Given the description of an element on the screen output the (x, y) to click on. 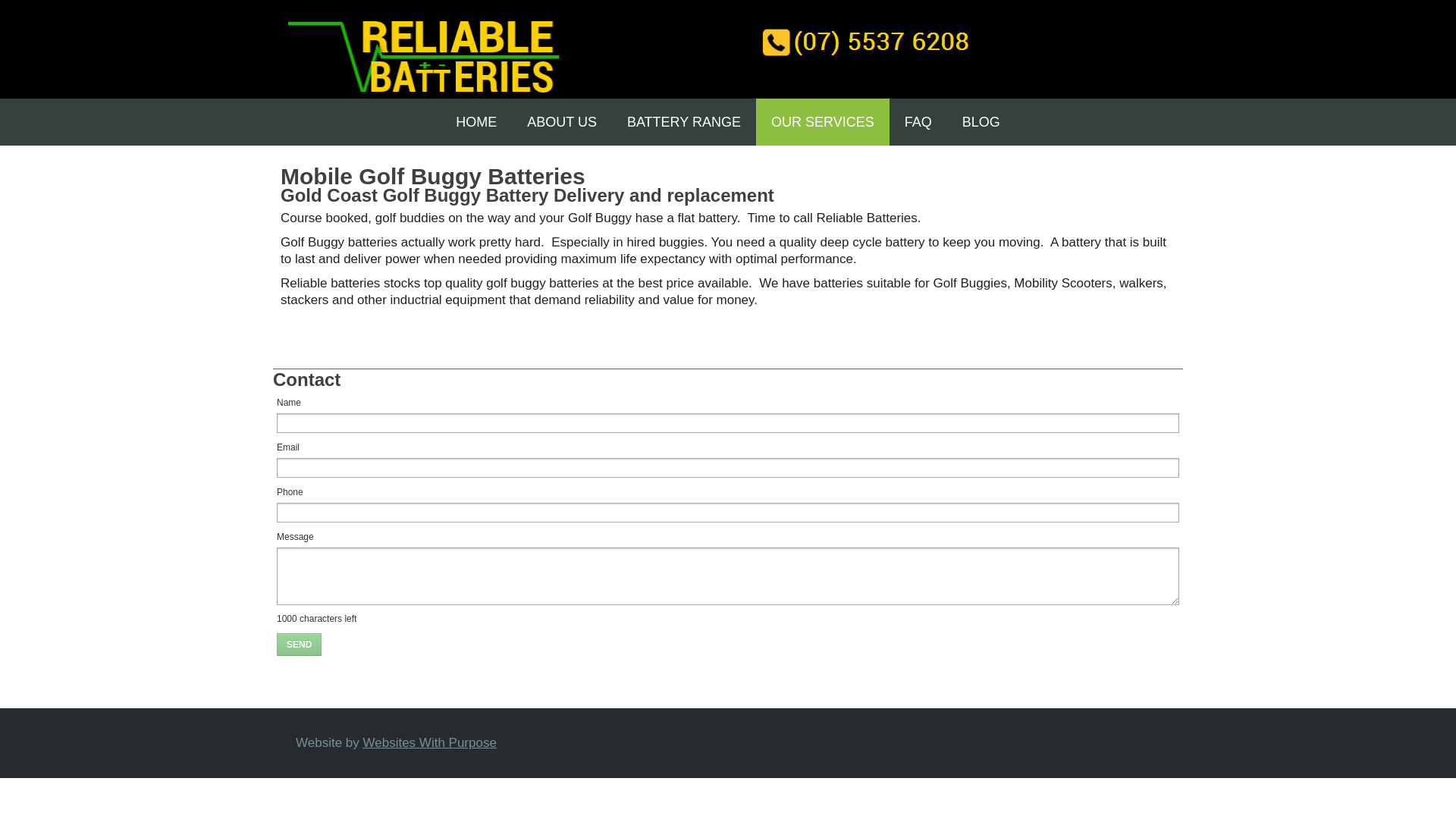
Call For Battery Delivery (861, 55)
ABOUT US (561, 121)
Websites With Purpose (429, 742)
HOME (476, 121)
SEND (298, 643)
FAQ (918, 121)
OUR SERVICES (822, 121)
BATTERY RANGE (683, 121)
Gold Coast Website Development (429, 742)
BLOG (980, 121)
